Given the description of an element on the screen output the (x, y) to click on. 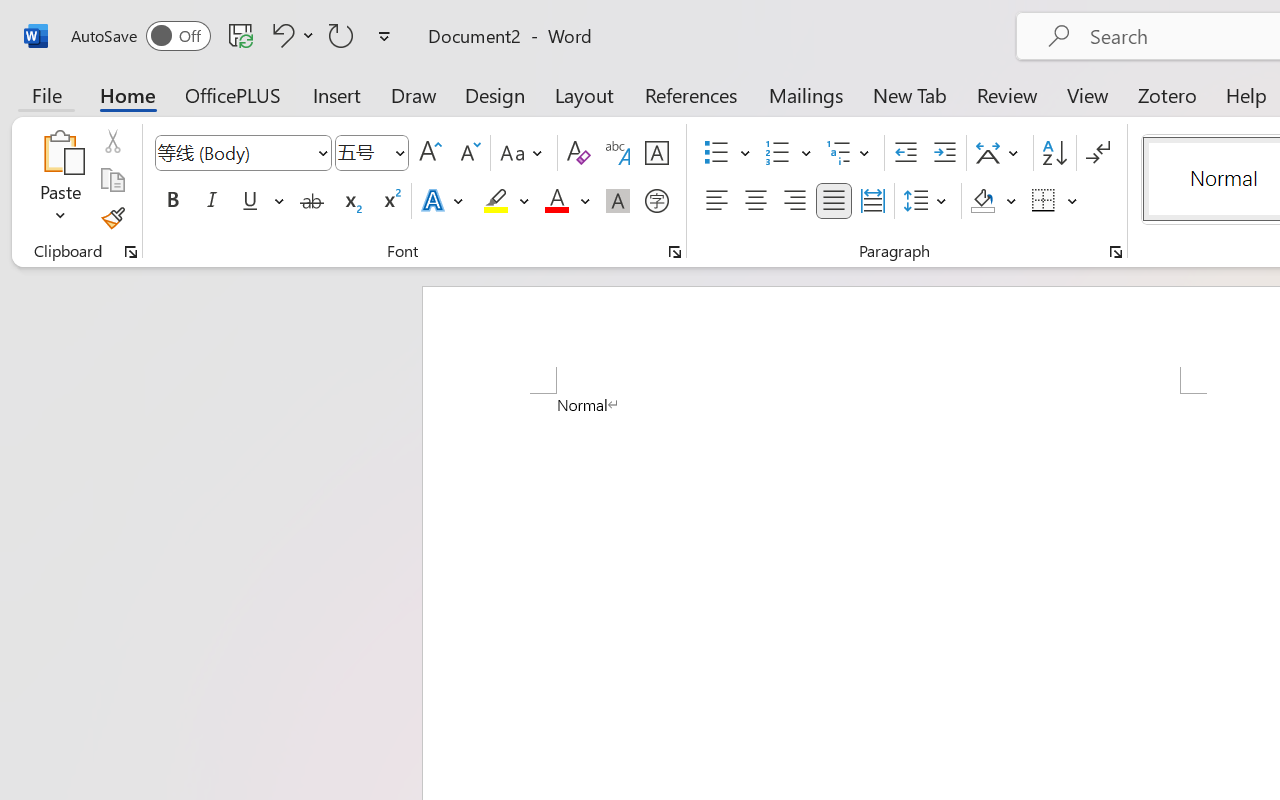
Zotero (1166, 94)
Quick Access Toolbar (233, 36)
View (1087, 94)
Mailings (806, 94)
Repeat Doc Close (341, 35)
Undo Apply Quick Style (290, 35)
Justify (834, 201)
New Tab (909, 94)
Superscript (390, 201)
Underline (250, 201)
Character Shading (618, 201)
Paste (60, 151)
Insert (337, 94)
Design (495, 94)
Text Highlight Color (506, 201)
